Given the description of an element on the screen output the (x, y) to click on. 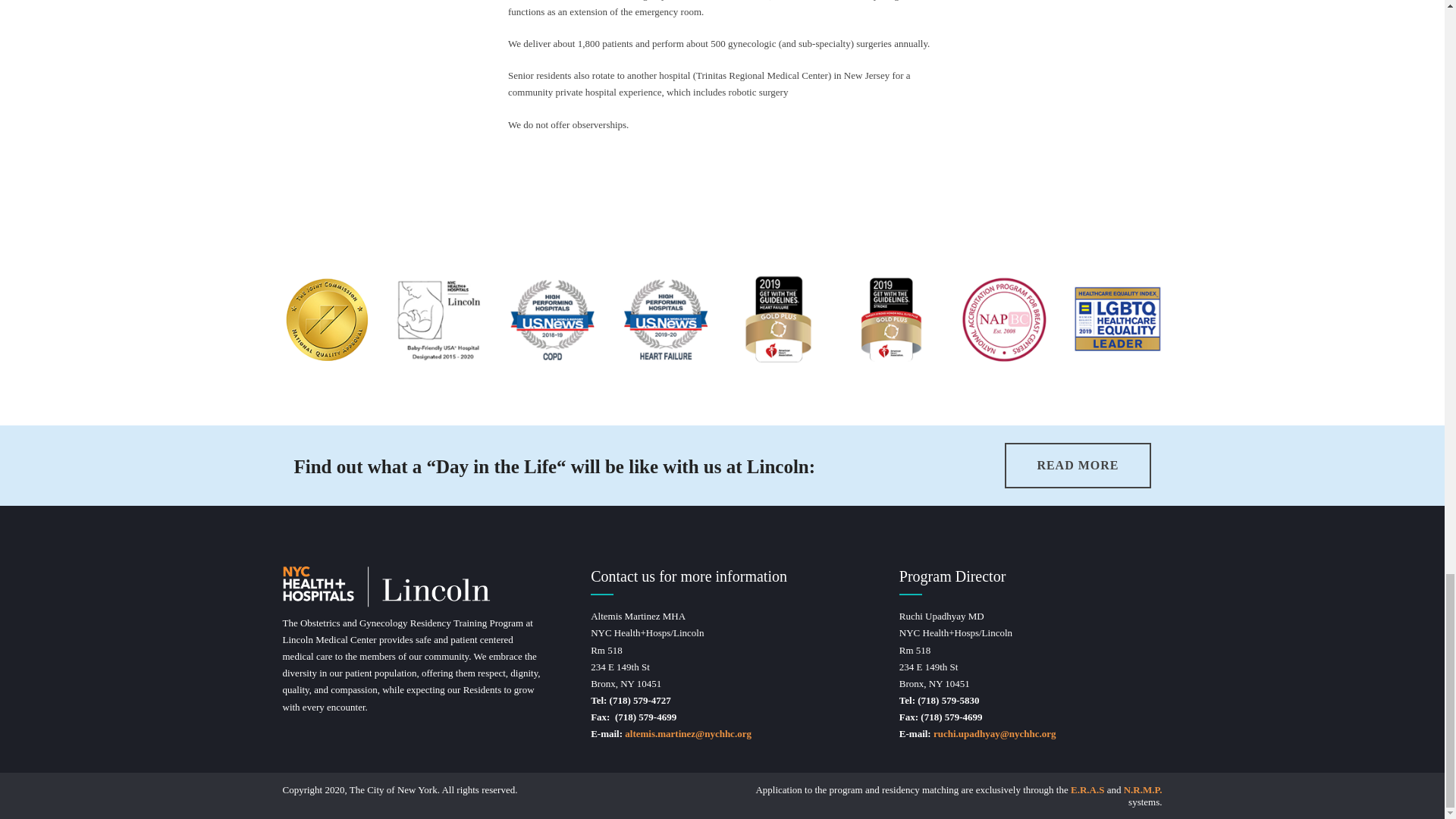
Gold Plus: Heart Failure American Heart Association (778, 319)
READ MORE (1077, 465)
Accredited Breast Center (1004, 319)
Accredited Perinatal Center, The Joint Commission (327, 319)
Gold Plus: Stroke, American Heart Association (890, 319)
LGBTQ Healthcare Equality (1116, 319)
E.R.A.S (1086, 789)
Baby Friendly Hospital (439, 319)
N.R.M.P. (1142, 789)
